Given the description of an element on the screen output the (x, y) to click on. 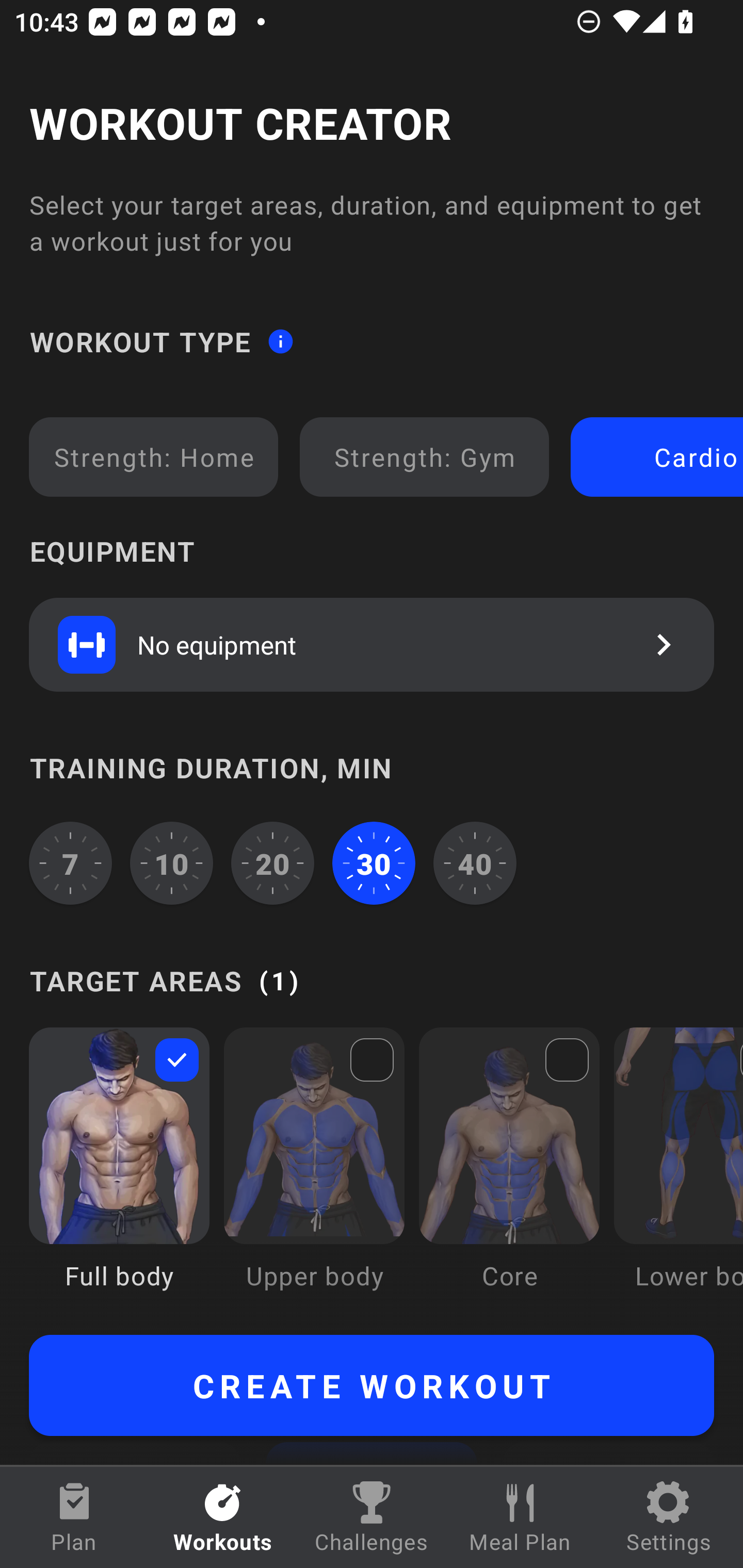
Workout type information button (280, 340)
Strength: Home (153, 457)
Strength: Gym (423, 457)
No equipment (371, 644)
7 (70, 863)
10 (171, 863)
20 (272, 863)
30 (373, 863)
40 (474, 863)
Upper body (313, 1172)
Core (509, 1172)
Lower body (678, 1172)
CREATE WORKOUT (371, 1385)
 Plan  (74, 1517)
 Challenges  (371, 1517)
 Meal Plan  (519, 1517)
 Settings  (668, 1517)
